Given the description of an element on the screen output the (x, y) to click on. 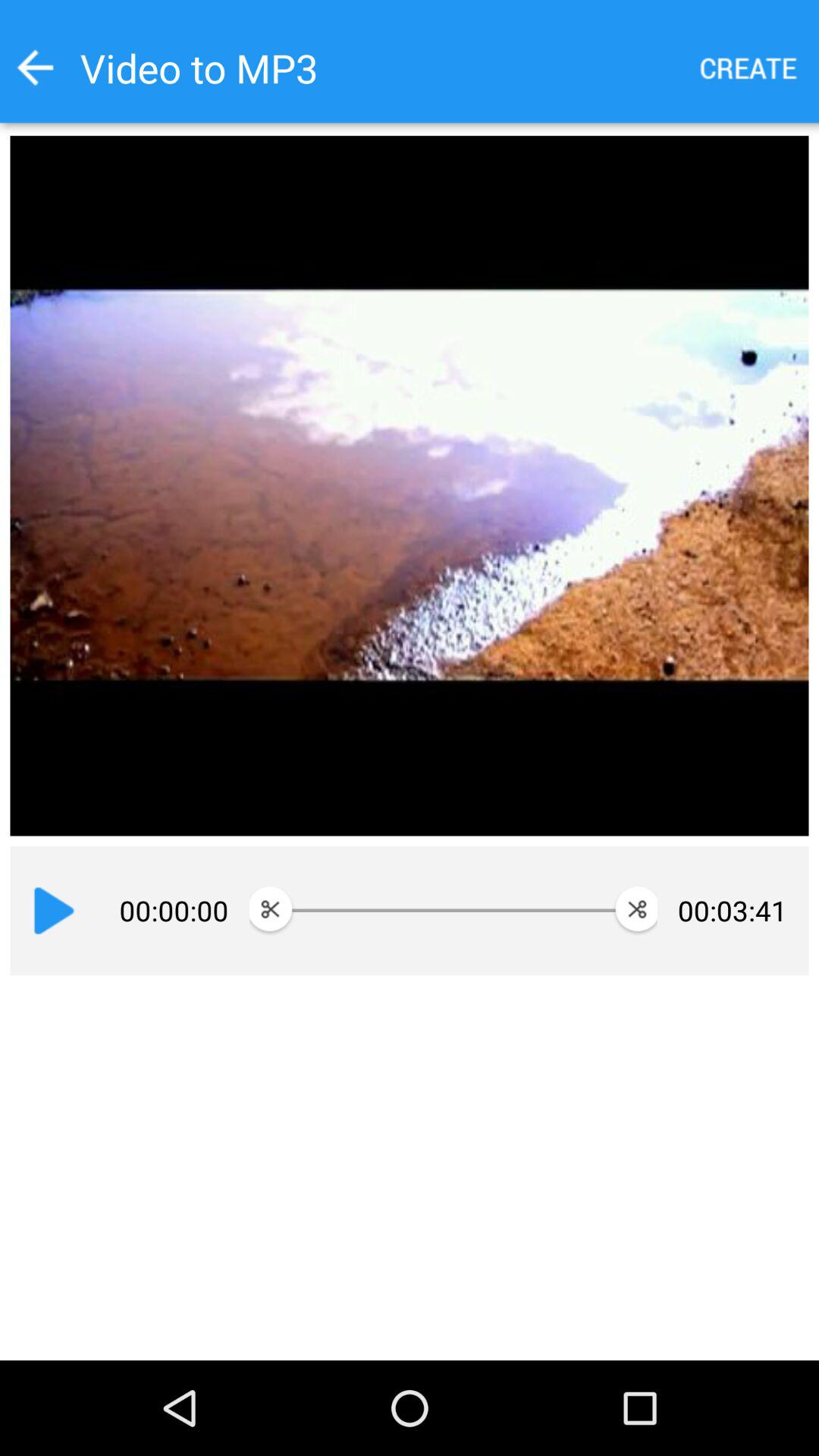
play the video (54, 910)
